Given the description of an element on the screen output the (x, y) to click on. 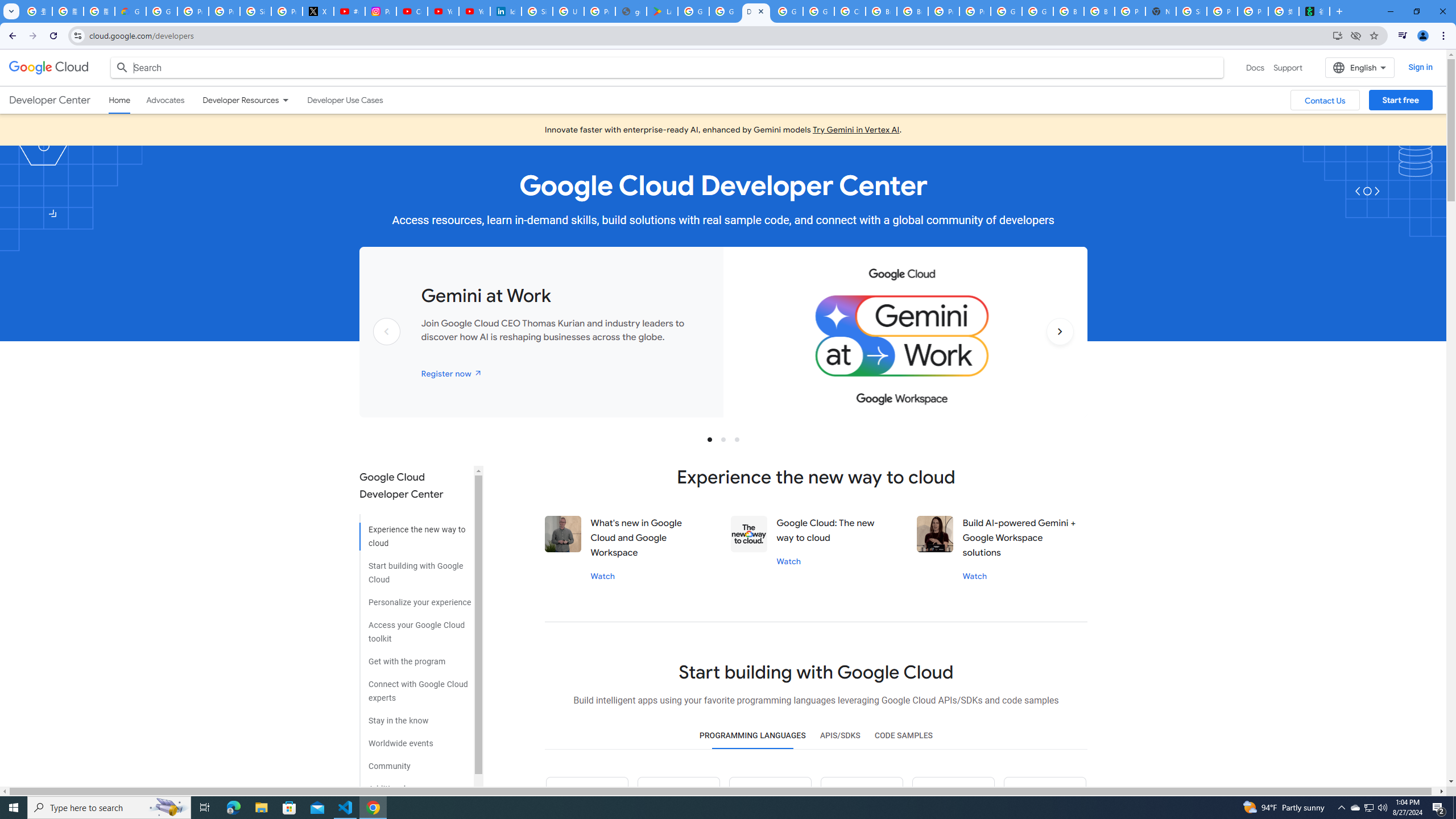
PROGRAMMING LANGUAGES (752, 735)
Sign in - Google Accounts (255, 11)
google_privacy_policy_en.pdf (631, 11)
APIS/SDKS (839, 735)
Data value (748, 533)
Watch (974, 575)
Java icon (678, 798)
CODE SAMPLES (903, 735)
#nbabasketballhighlights - YouTube (349, 11)
